Given the description of an element on the screen output the (x, y) to click on. 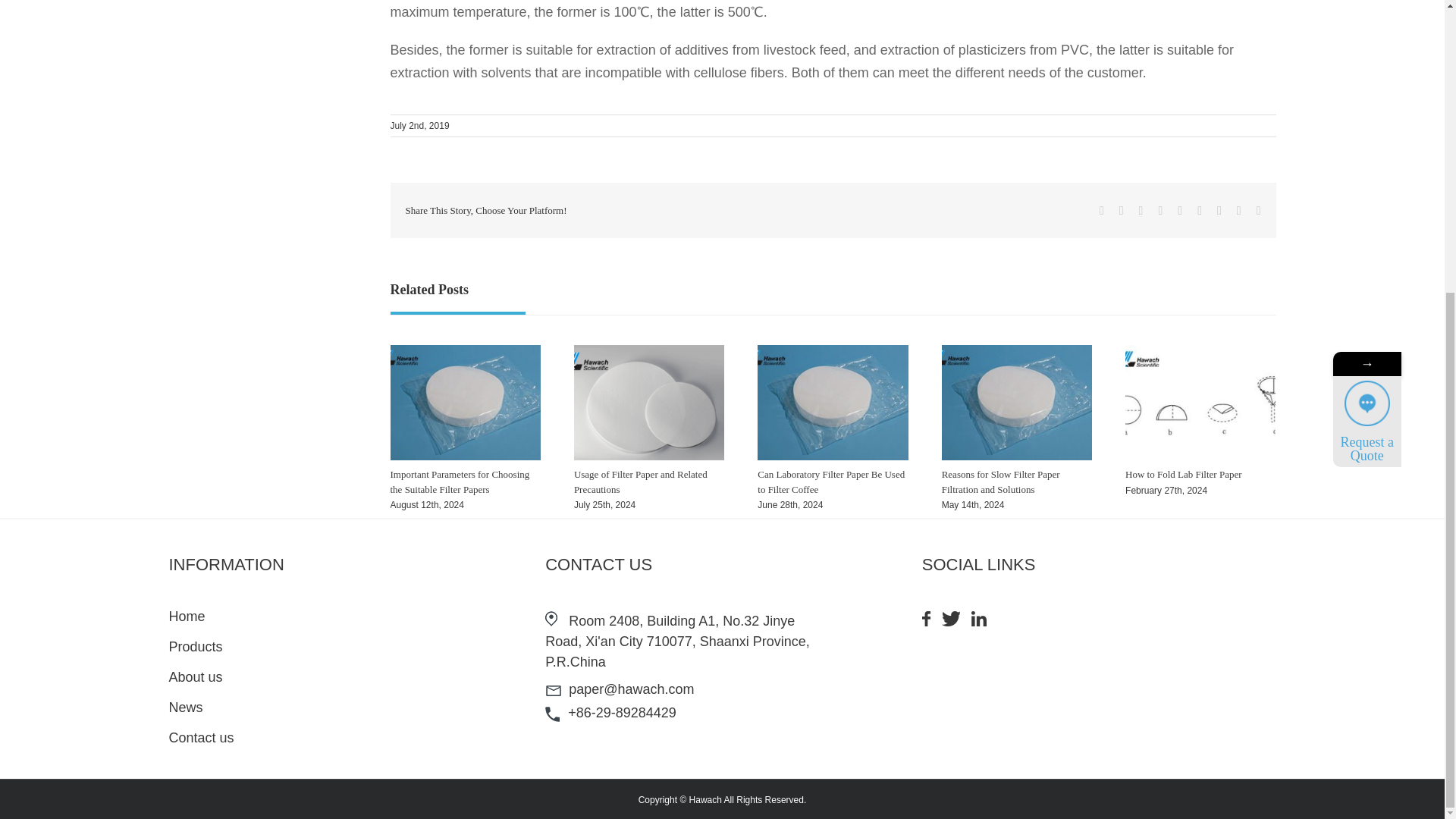
Can Laboratory Filter Paper Be Used to Filter Coffee (830, 481)
Important Parameters for Choosing the Suitable Filter Papers (459, 481)
Usage of Filter Paper and Related Precautions (640, 481)
Reasons for Slow Filter Paper Filtration and Solutions (1000, 481)
How to Fold Lab Filter Paper (1183, 473)
